Given the description of an element on the screen output the (x, y) to click on. 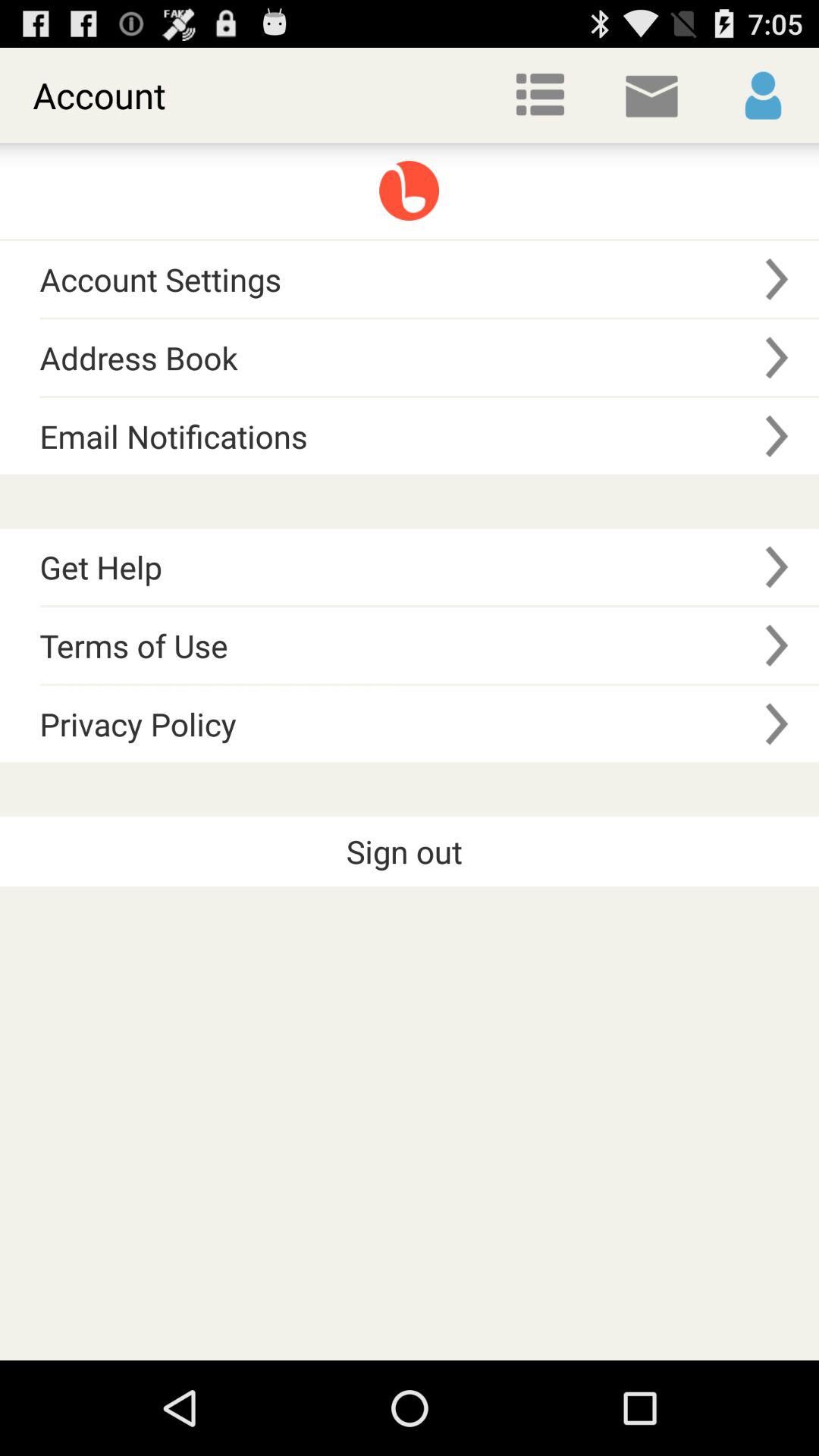
choose item next to the account (540, 95)
